Given the description of an element on the screen output the (x, y) to click on. 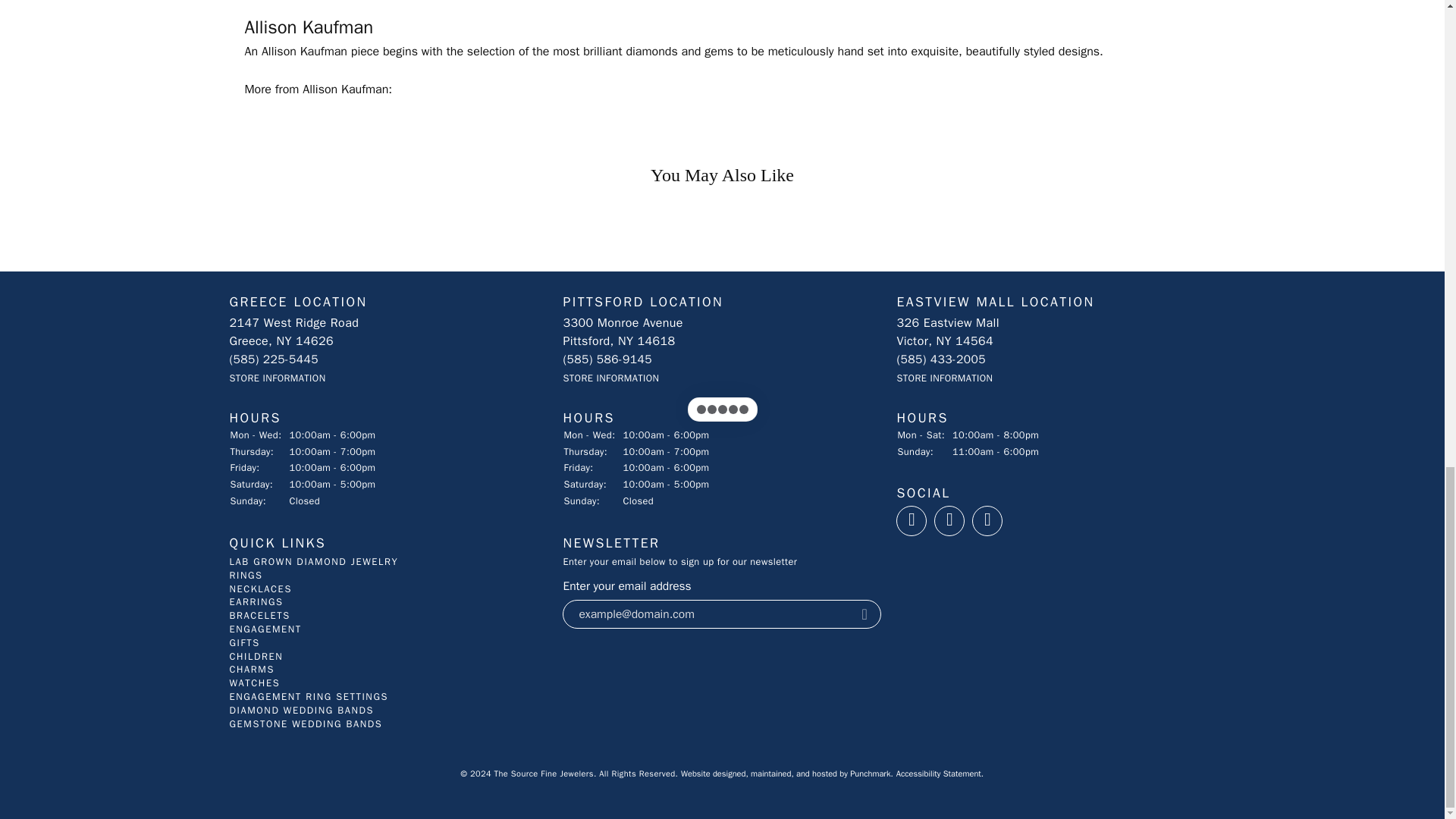
Follow us on facebook (911, 520)
Enter your email address to subscribe (706, 614)
Follow us on pinterest (987, 520)
Follow us on instagram (948, 520)
